Given the description of an element on the screen output the (x, y) to click on. 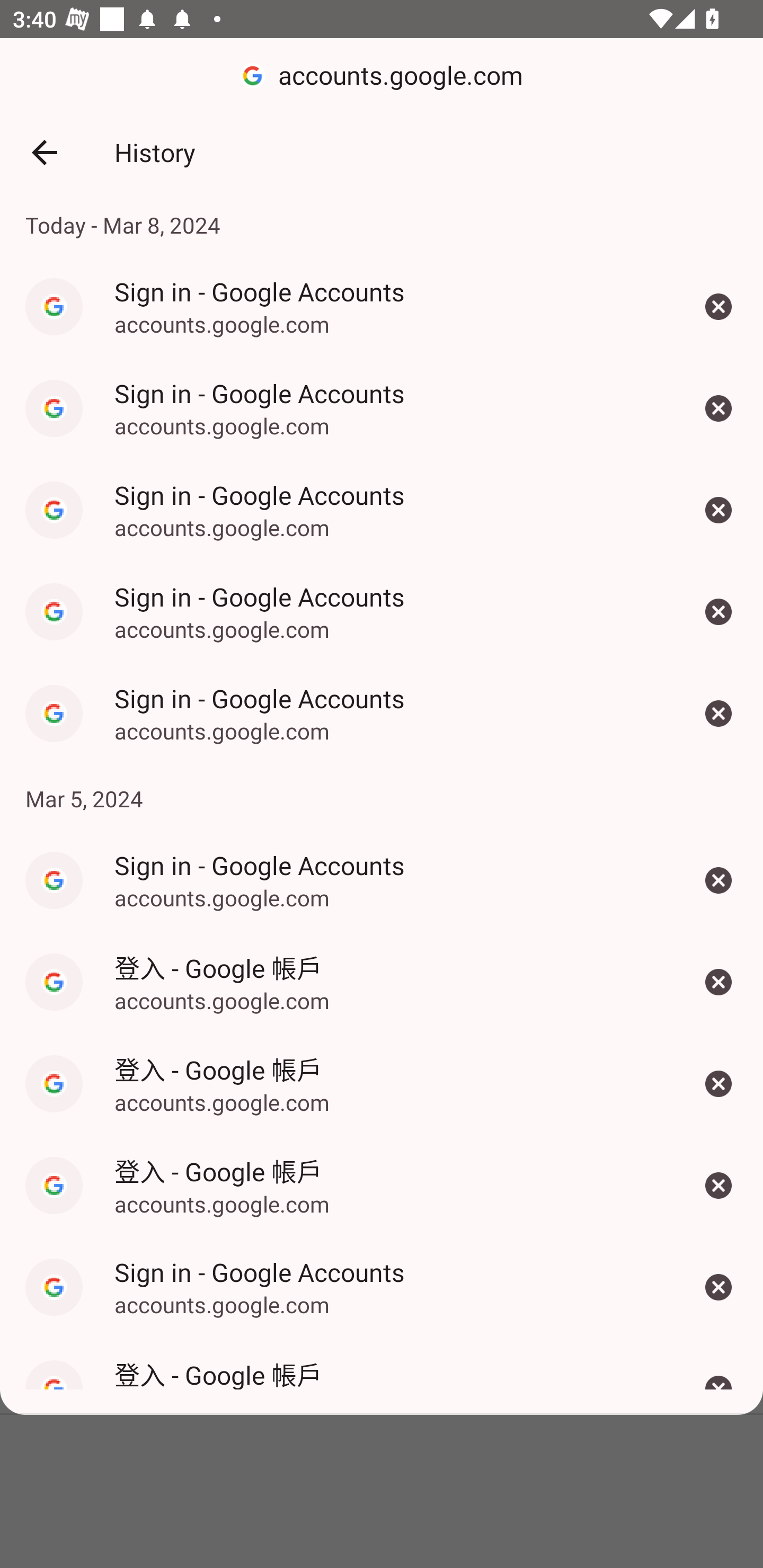
accounts.google.com (381, 75)
Back (44, 152)
Sign in - Google Accounts Remove (718, 306)
Sign in - Google Accounts Remove (718, 408)
Sign in - Google Accounts Remove (718, 510)
Sign in - Google Accounts Remove (718, 612)
Sign in - Google Accounts Remove (718, 714)
Sign in - Google Accounts Remove (718, 880)
登入 - Google 帳戶 Remove (718, 982)
登入 - Google 帳戶 Remove (718, 1084)
登入 - Google 帳戶 Remove (718, 1186)
Sign in - Google Accounts Remove (718, 1287)
登入 - Google 帳戶 登入 - Google 帳戶 Remove (381, 1375)
登入 - Google 帳戶 Remove (718, 1375)
